Given the description of an element on the screen output the (x, y) to click on. 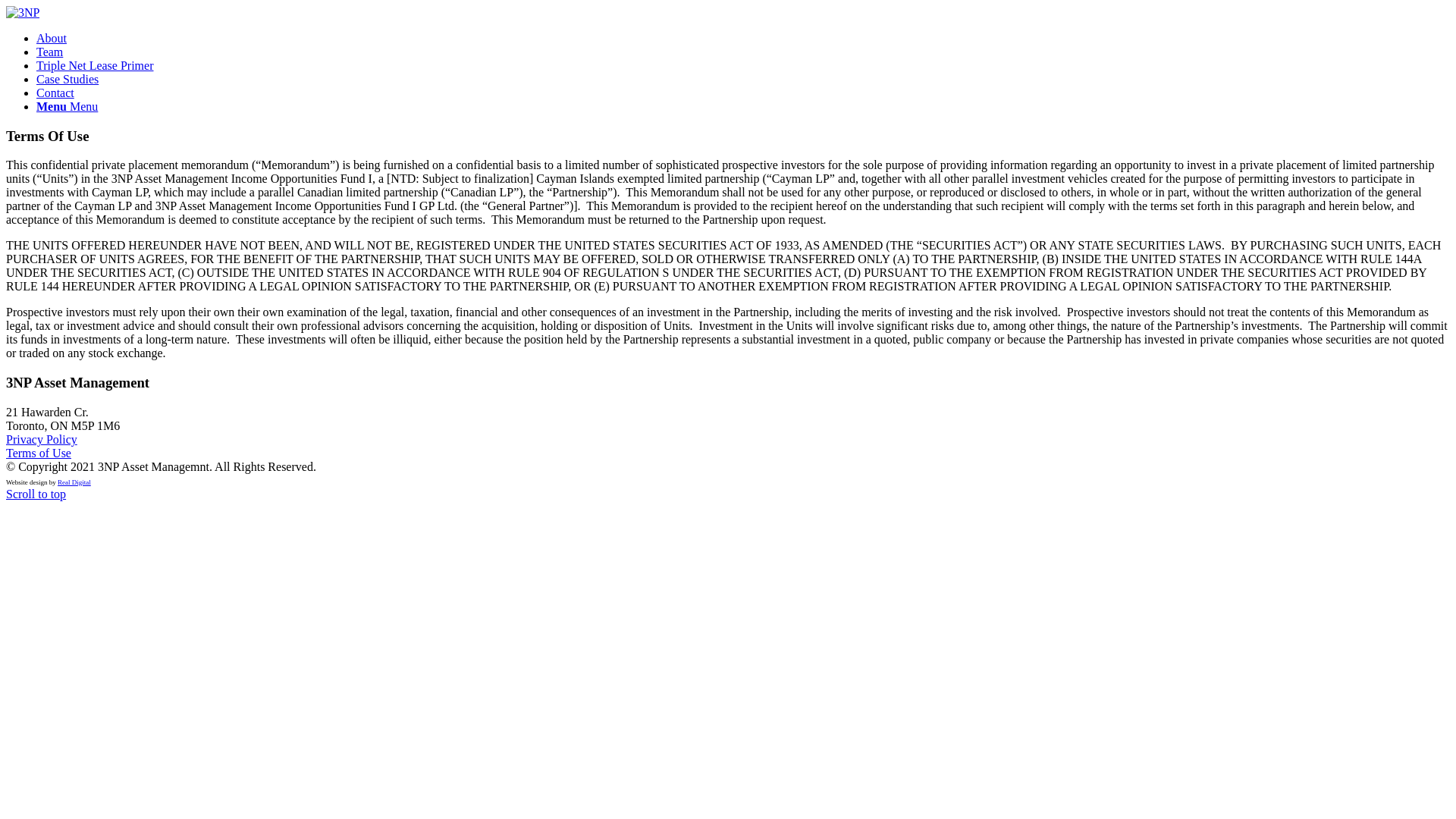
Scroll to top Element type: text (35, 493)
Privacy Policy Element type: text (41, 439)
3np_logo Element type: hover (22, 12)
About Element type: text (51, 37)
Triple Net Lease Primer Element type: text (94, 65)
Real Digital Element type: text (74, 482)
Case Studies Element type: text (67, 78)
Terms of Use Element type: text (38, 452)
Team Element type: text (49, 51)
Contact Element type: text (55, 92)
Menu Menu Element type: text (66, 106)
